Given the description of an element on the screen output the (x, y) to click on. 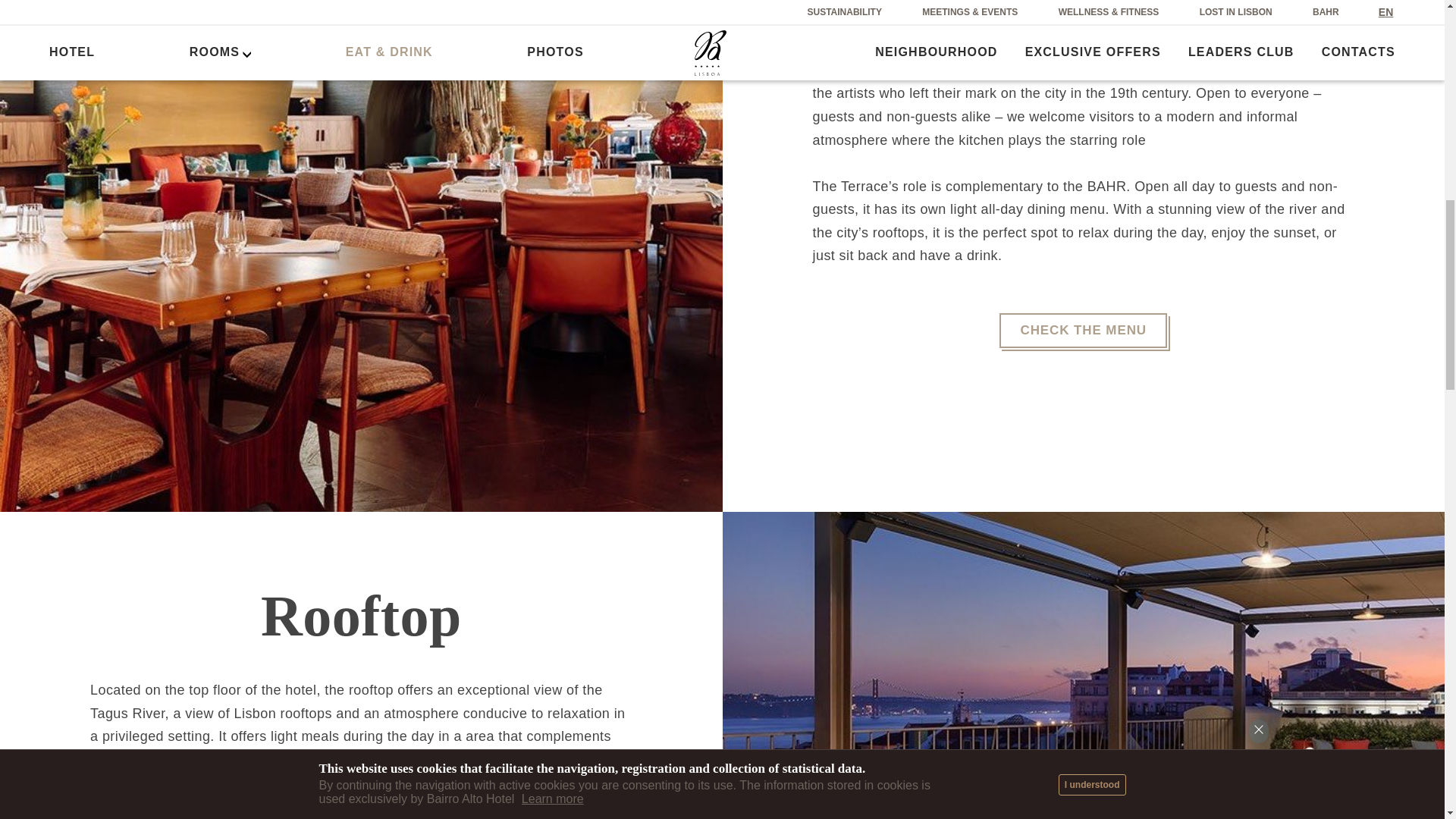
Check the menu (1082, 330)
CHECK THE MENU (1082, 330)
